Given the description of an element on the screen output the (x, y) to click on. 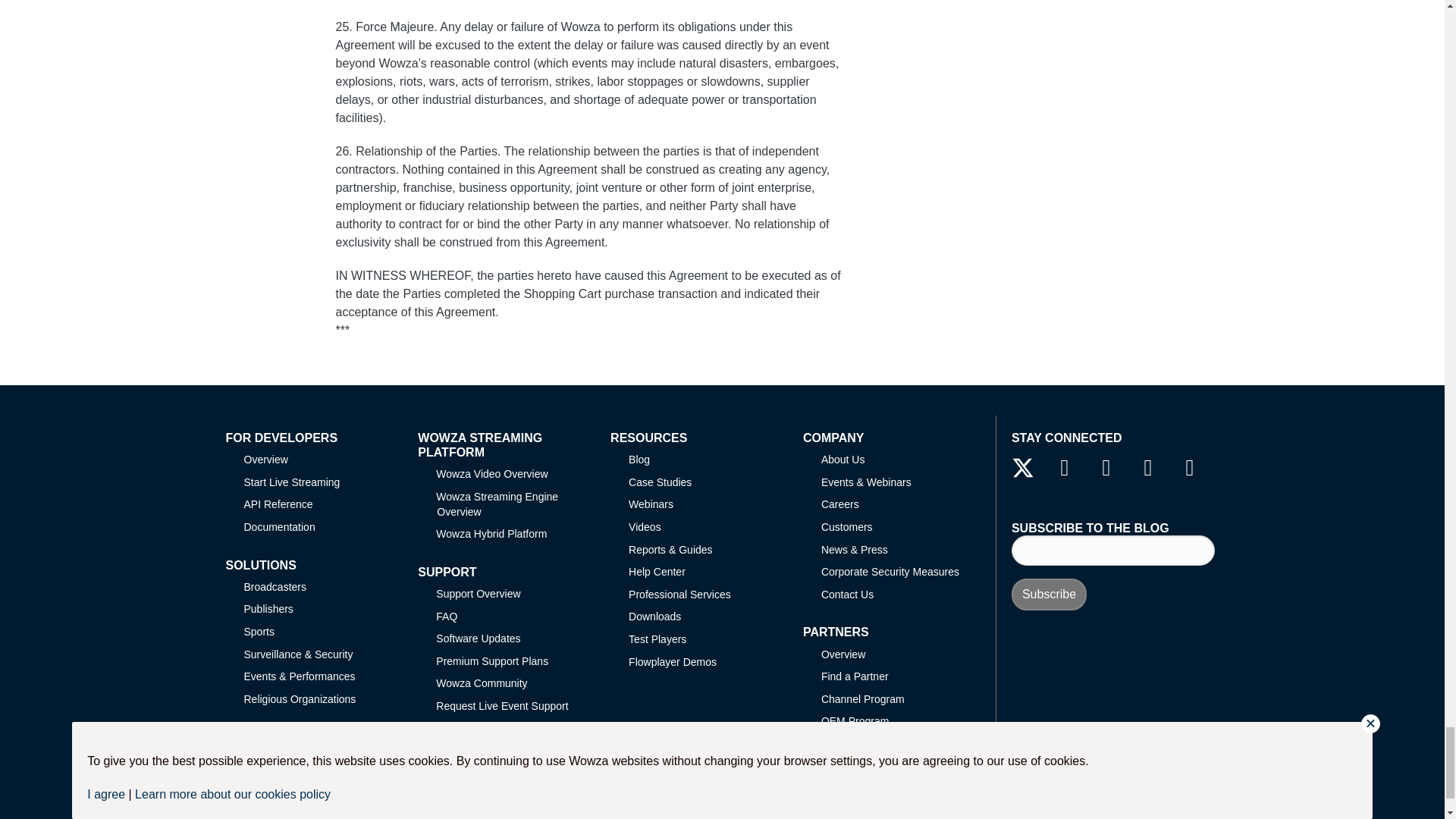
Instagram (1189, 467)
Subscribe (1048, 594)
LinkedIn (1106, 467)
Youtube (1147, 467)
facebook (1063, 467)
